Given the description of an element on the screen output the (x, y) to click on. 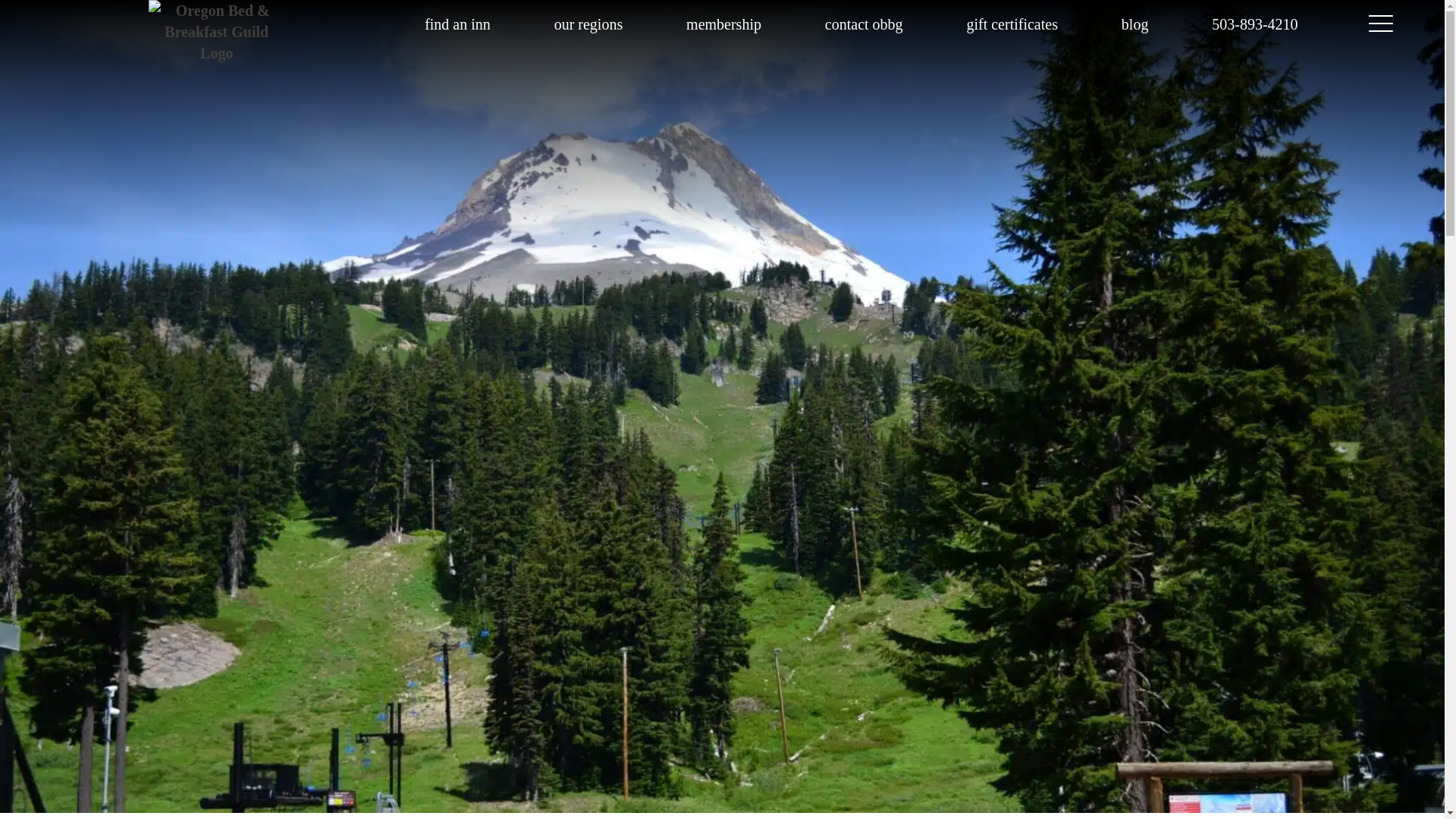
membership (723, 24)
find an inn (457, 24)
logo (180, 24)
gift certificates (1012, 24)
contact obbg (863, 24)
503-893-4210 (1254, 24)
our regions (588, 24)
